Given the description of an element on the screen output the (x, y) to click on. 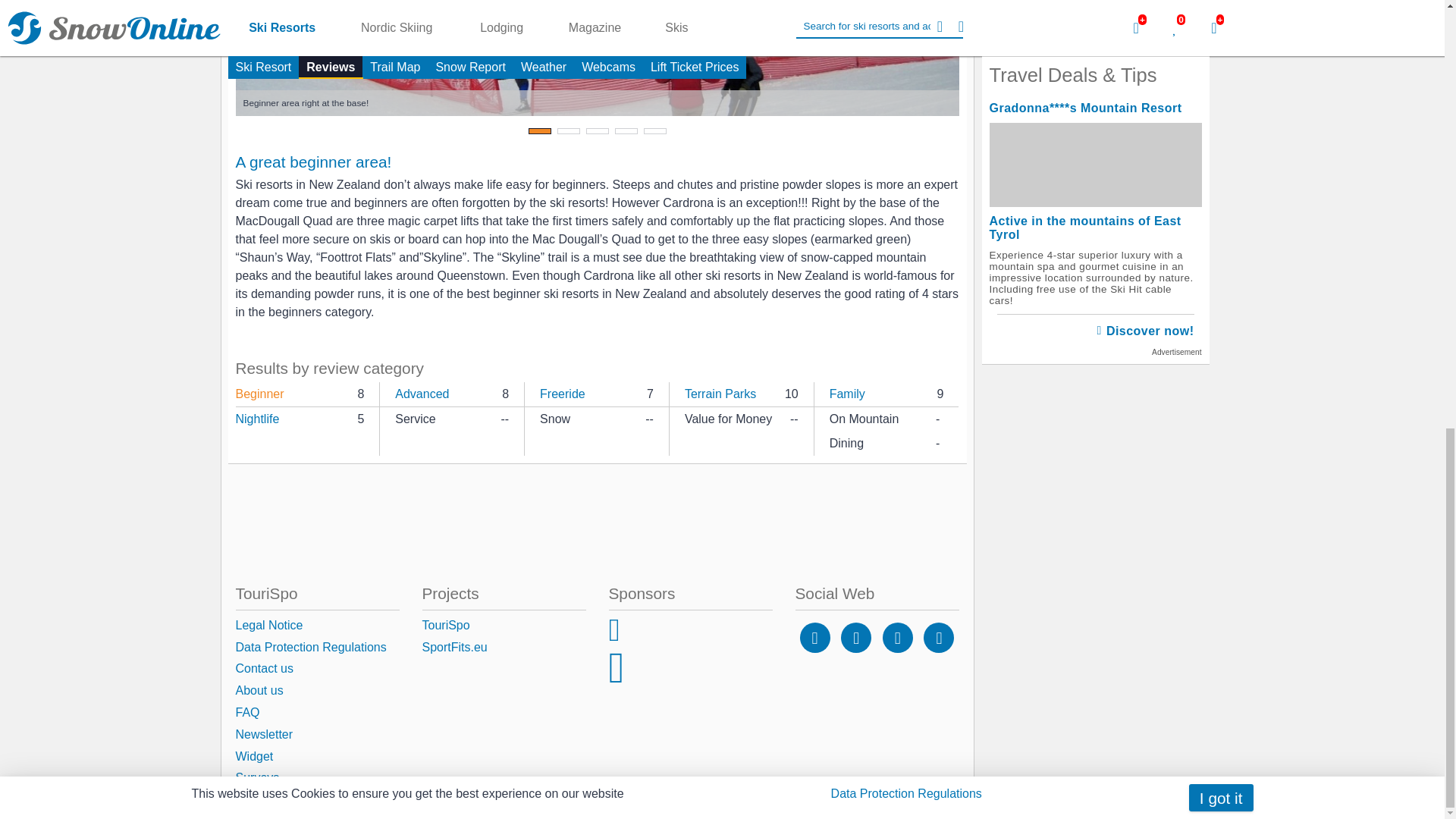
Terrain Parks (719, 394)
Freeride (562, 394)
Advanced (421, 394)
Family (846, 394)
Nightlife (256, 431)
Beginner (258, 394)
